Given the description of an element on the screen output the (x, y) to click on. 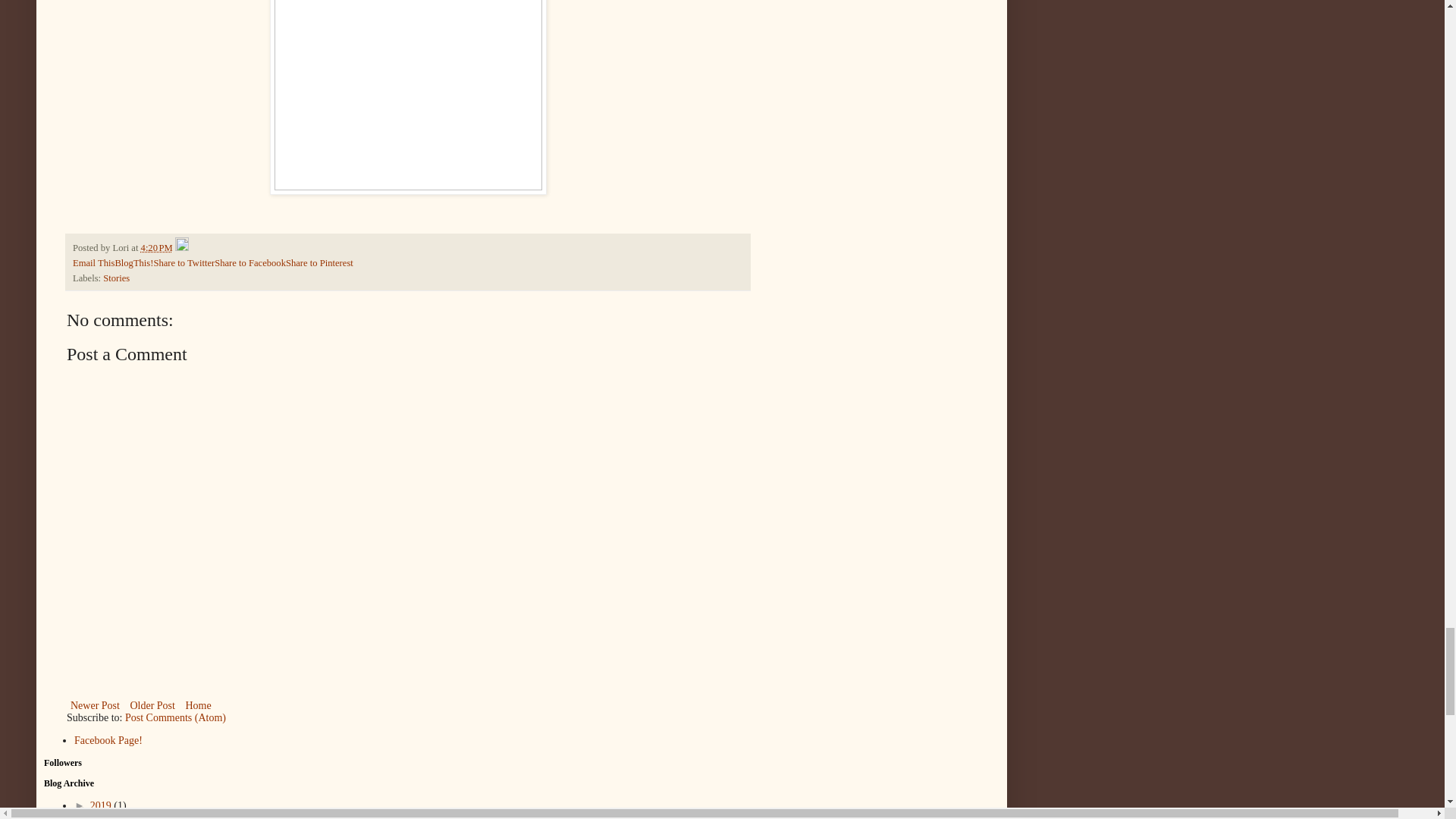
Share to Twitter (183, 262)
Newer Post (94, 705)
Email This (93, 262)
BlogThis! (133, 262)
Share to Twitter (183, 262)
Share to Pinterest (319, 262)
Stories (116, 277)
Home (197, 705)
August (135, 815)
permanent link (157, 247)
Facebook Page! (108, 740)
BlogThis! (133, 262)
2019 (102, 805)
Email This (93, 262)
